Given the description of an element on the screen output the (x, y) to click on. 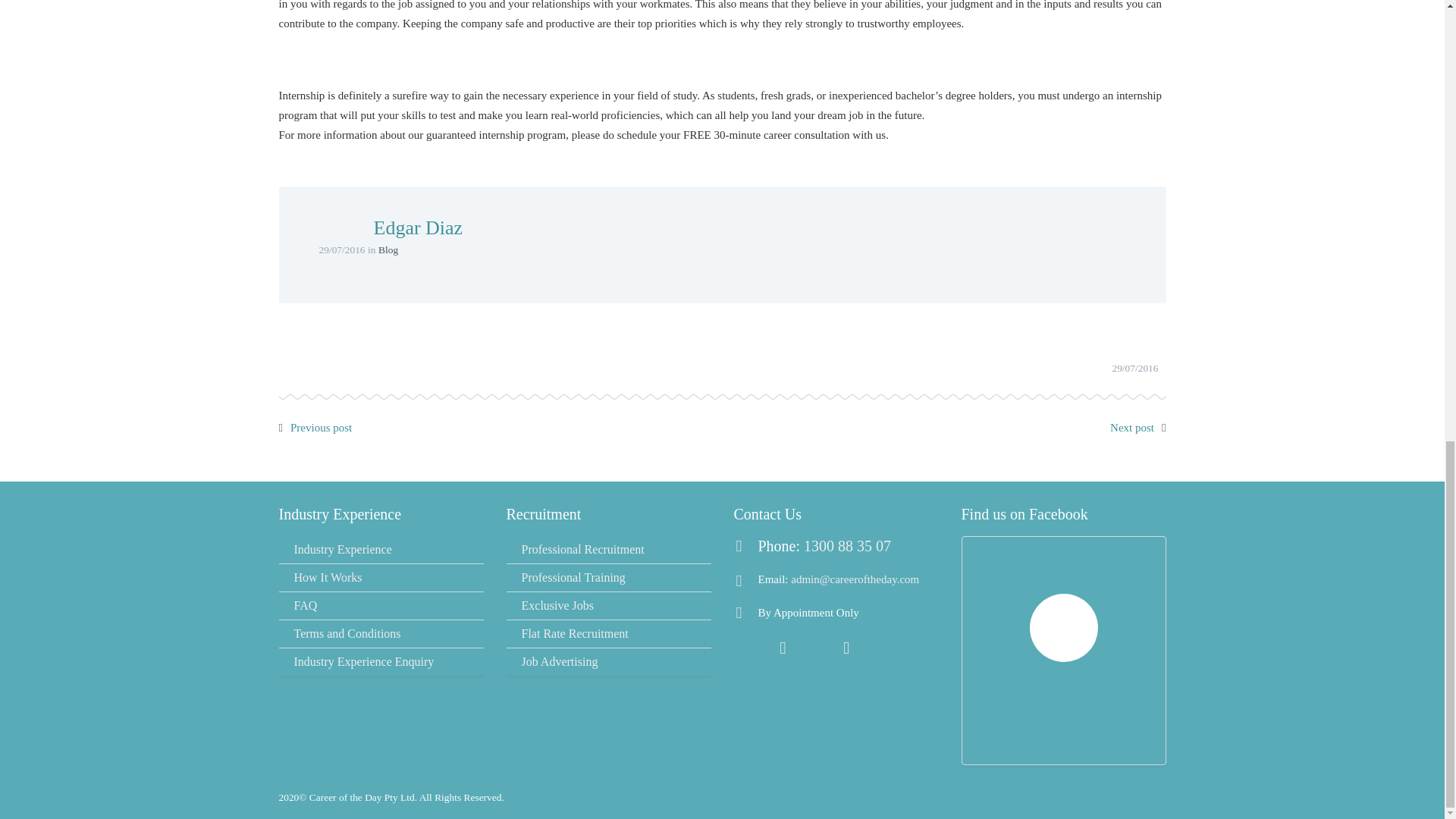
Previous post (320, 427)
Industry Experience (381, 549)
Terms and Conditions (381, 633)
Industry Experience Enquiry (381, 661)
Exclusive Jobs (608, 605)
Flat Rate Recruitment (608, 633)
How It Works (381, 577)
Next post (1131, 427)
Job Advertising (608, 661)
Professional Recruitment (608, 549)
Blog (387, 249)
View all posts in Blog (387, 249)
FAQ (381, 605)
Professional Training (608, 577)
